Given the description of an element on the screen output the (x, y) to click on. 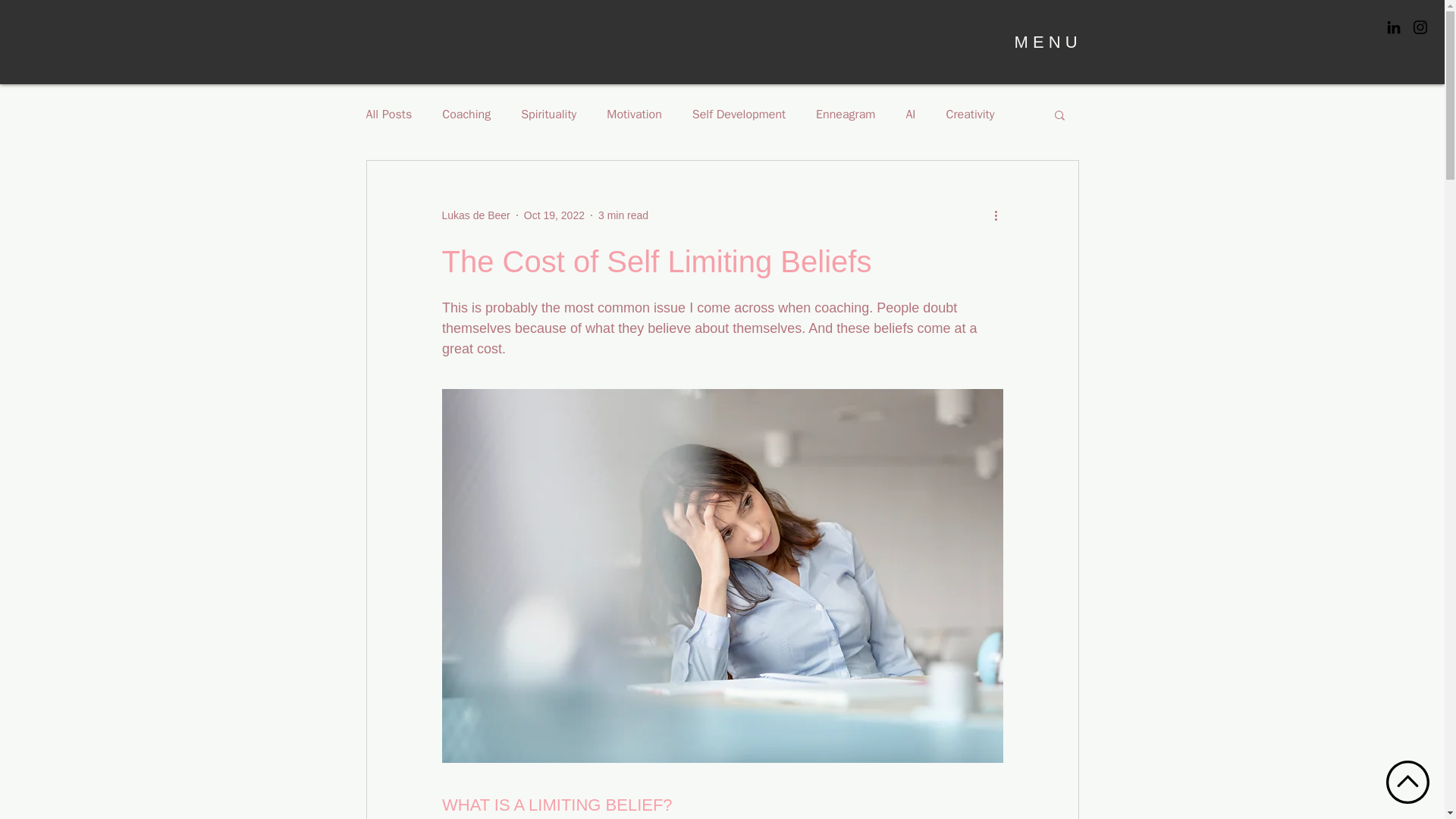
Enneagram (845, 114)
Motivation (634, 114)
Creativity (970, 114)
Oct 19, 2022 (554, 215)
Coaching (466, 114)
Spirituality (548, 114)
Self Development (739, 114)
Lukas de Beer (475, 215)
3 min read (622, 215)
All Posts (388, 114)
